Given the description of an element on the screen output the (x, y) to click on. 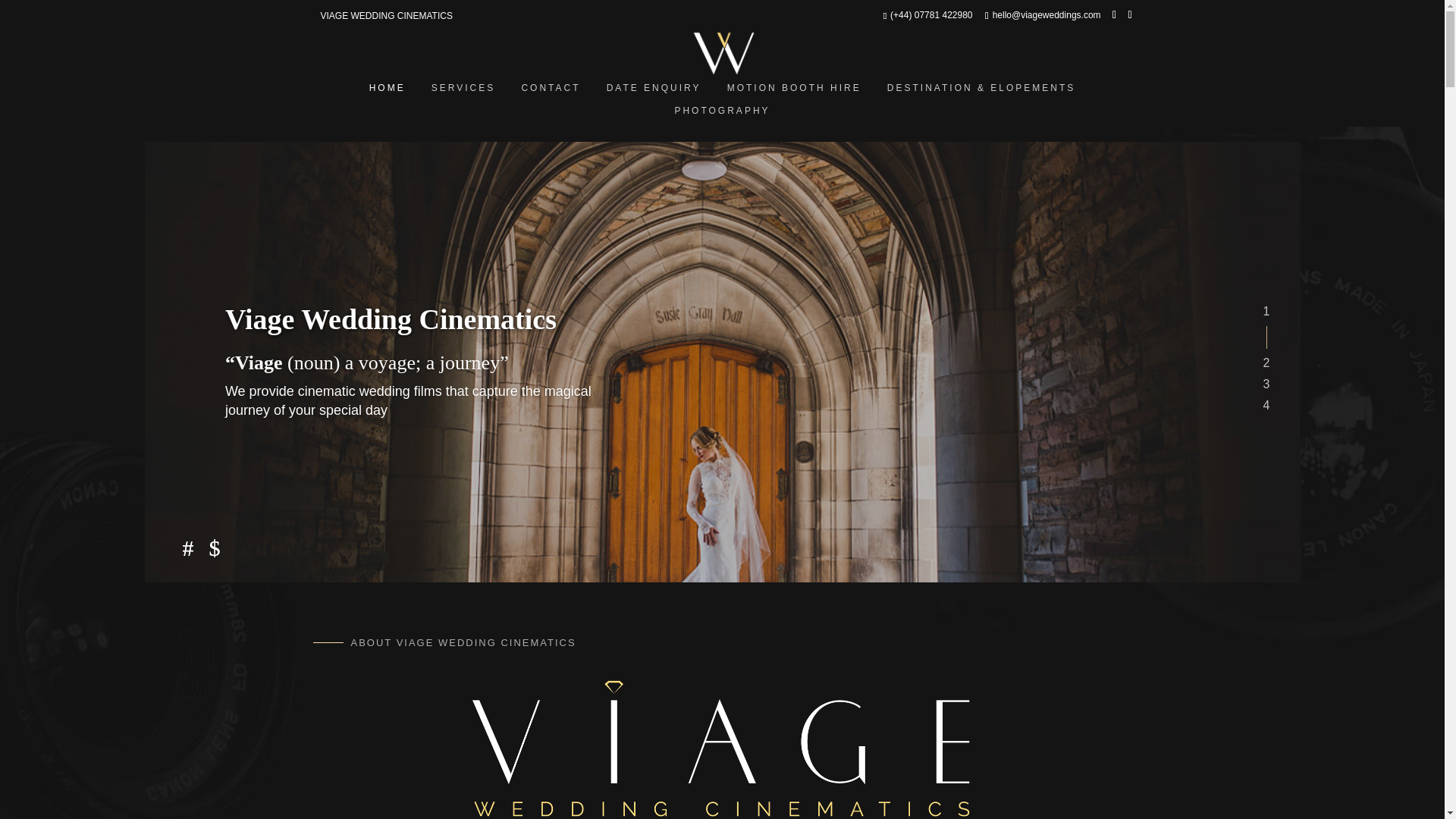
SERVICES (463, 92)
PHOTOGRAPHY (722, 115)
VIAGE WEDDING CINEMATICS (385, 15)
CONTACT (551, 92)
MOTION BOOTH HIRE (794, 92)
3 (722, 744)
DATE ENQUIRY (654, 92)
HOME (387, 92)
